Given the description of an element on the screen output the (x, y) to click on. 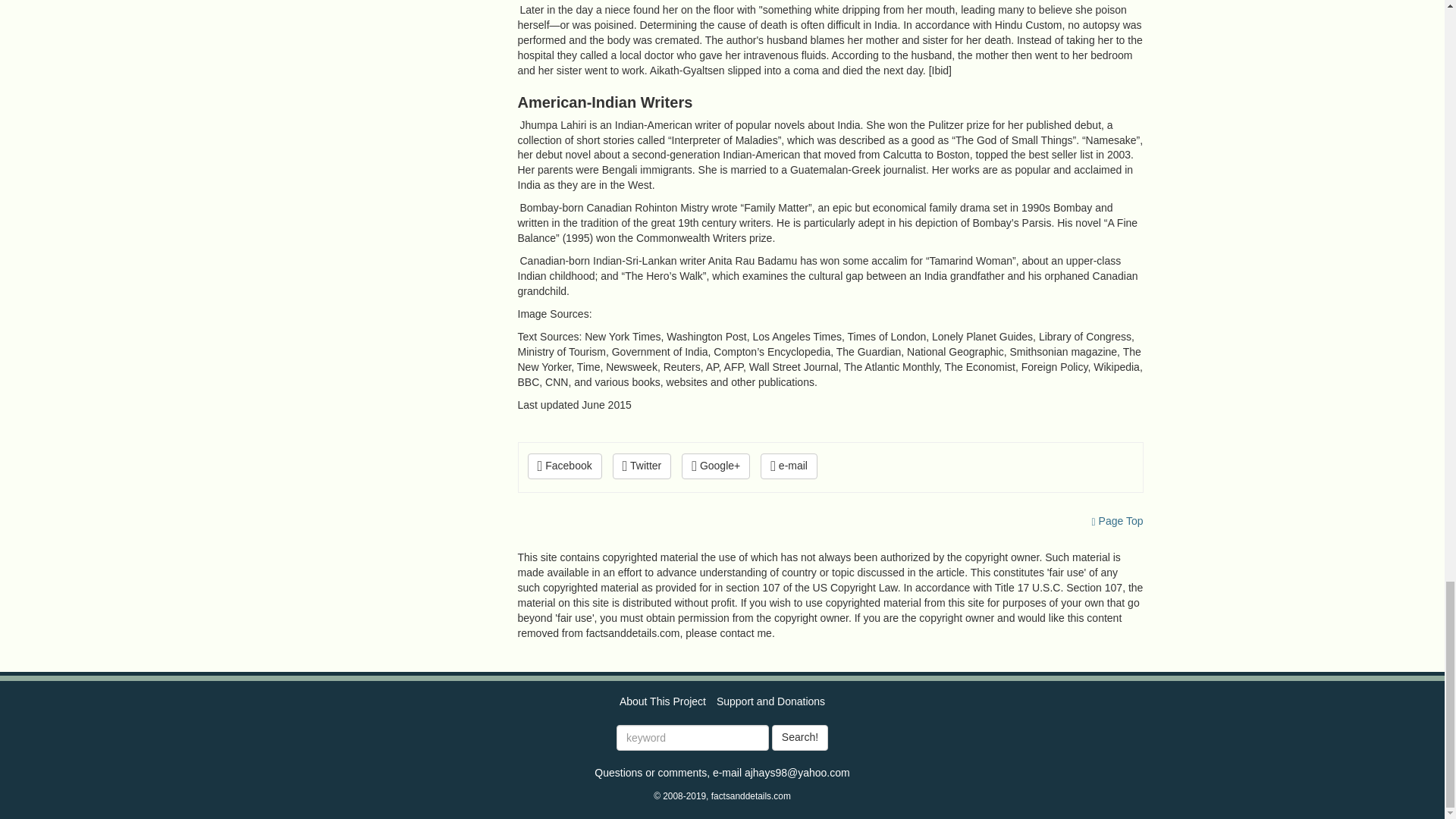
e-mail a link to this page (788, 466)
About This Project (663, 701)
 Twitter (641, 466)
 e-mail (788, 466)
Search! (799, 737)
Support and Donations (770, 701)
 Facebook (564, 466)
Search! (799, 737)
 Page Top (1117, 521)
